Given the description of an element on the screen output the (x, y) to click on. 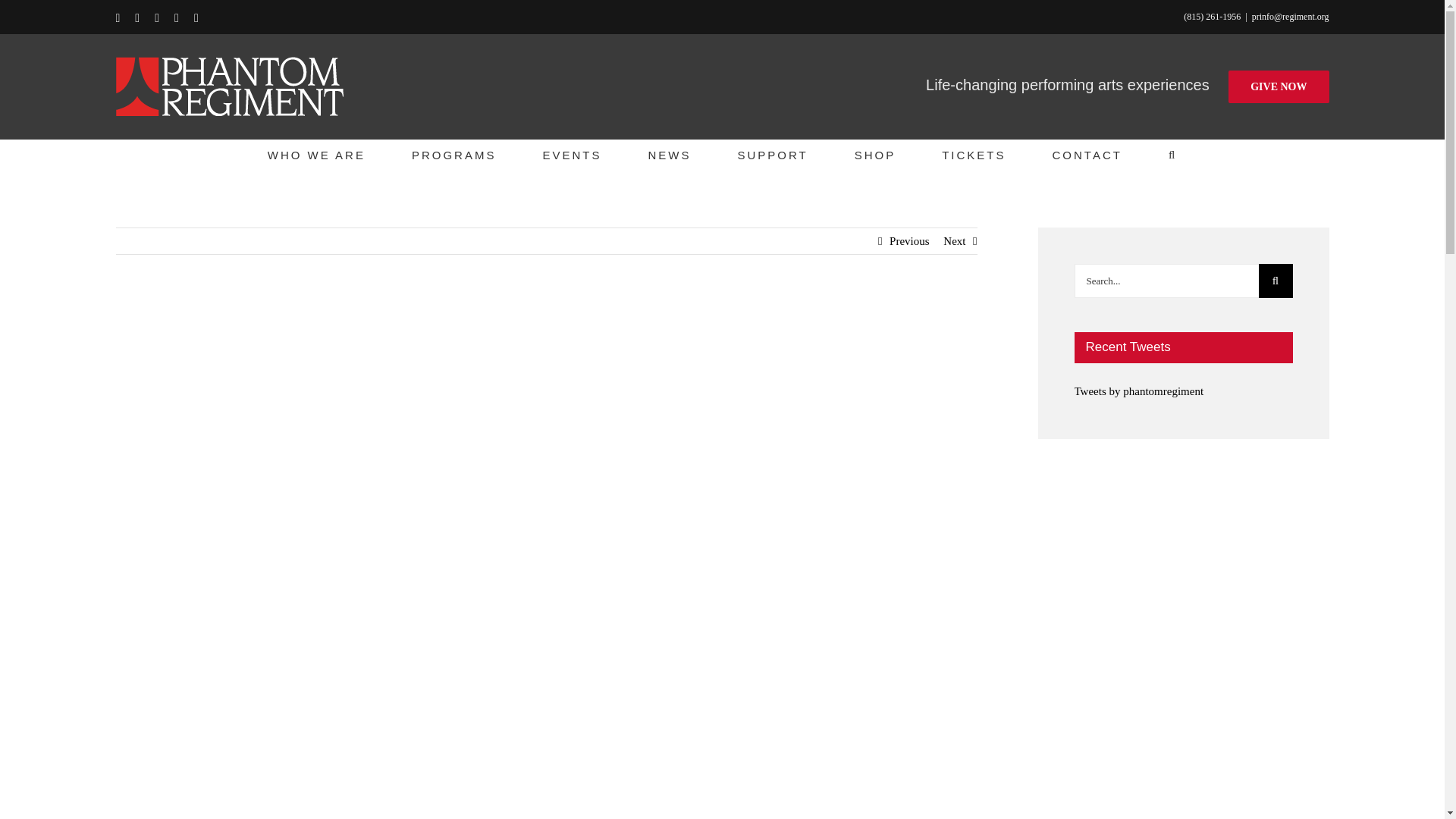
GIVE NOW (1277, 85)
EVENTS (571, 154)
WHO WE ARE (316, 154)
SUPPORT (772, 154)
SHOP (875, 154)
NEWS (668, 154)
PROGRAMS (454, 154)
